Given the description of an element on the screen output the (x, y) to click on. 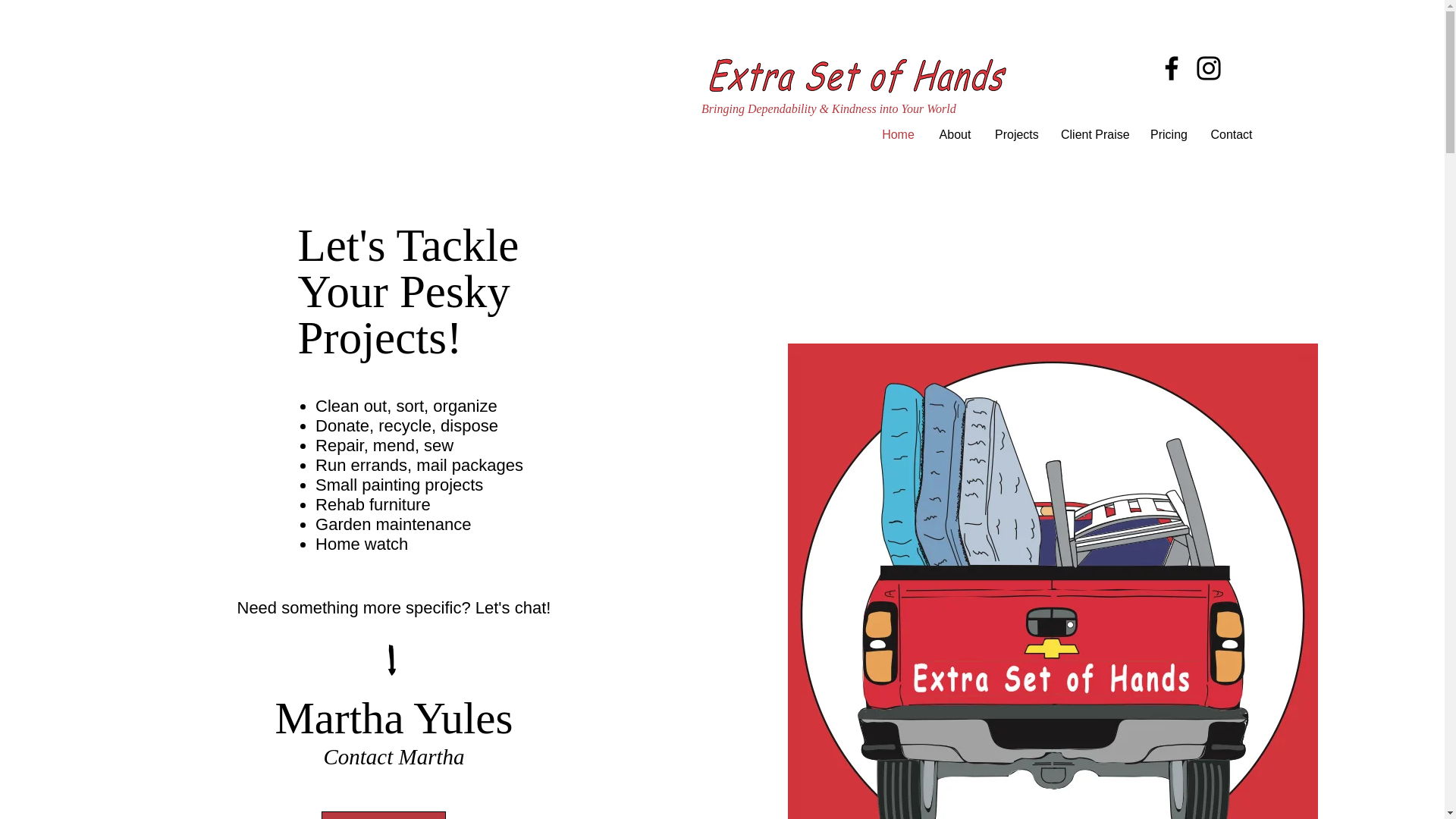
Projects (1016, 134)
Contact Martha (393, 756)
Get Pricing (383, 815)
Contact (1230, 134)
About (955, 134)
Pricing (1168, 134)
Home (897, 134)
Client Praise (1093, 134)
